Given the description of an element on the screen output the (x, y) to click on. 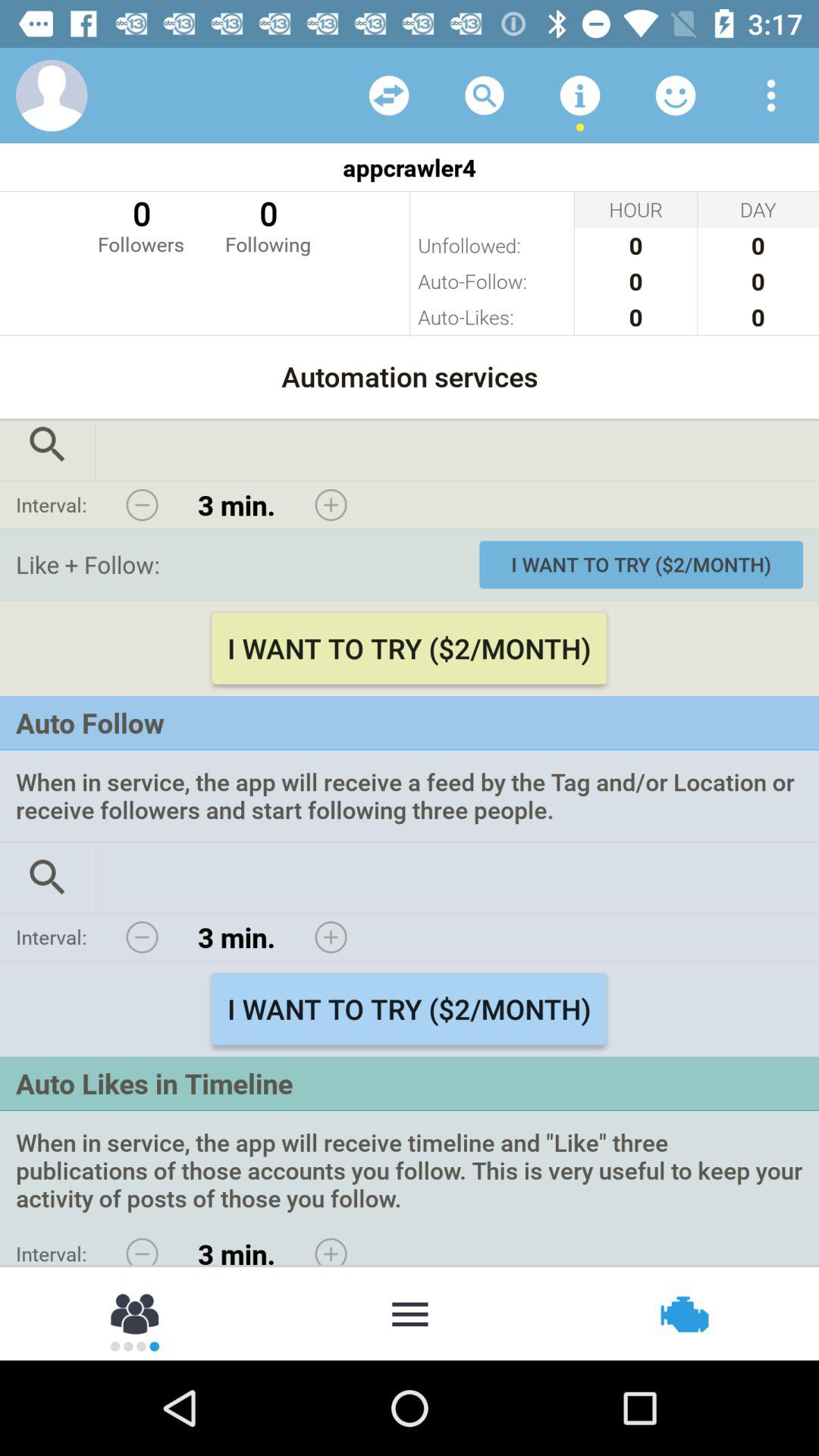
show menu (409, 1312)
